Given the description of an element on the screen output the (x, y) to click on. 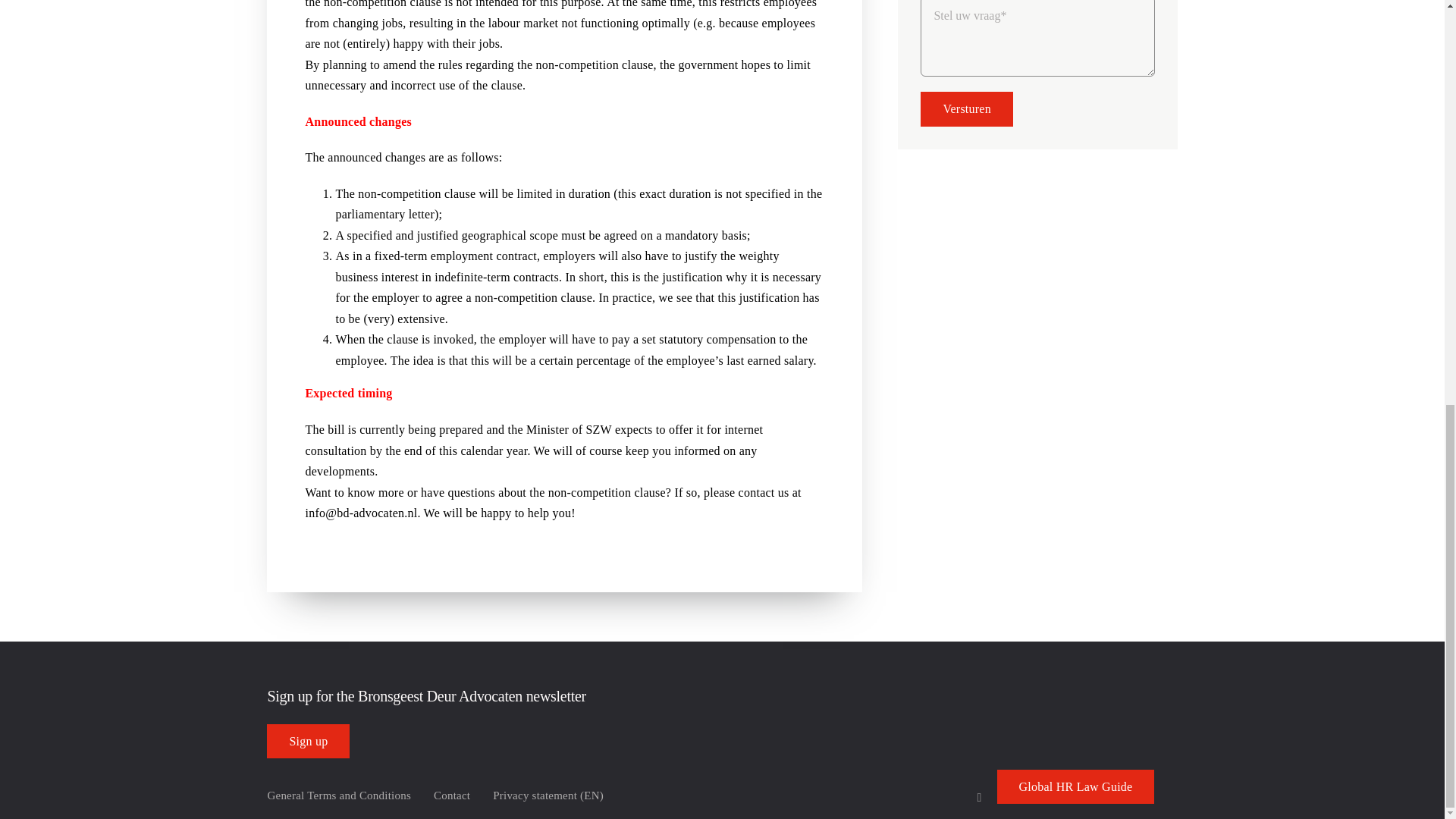
Versturen (965, 108)
Sign up (307, 740)
Contact (451, 795)
General Terms and Conditions (338, 795)
Global HR Law Guide (1075, 786)
